Given the description of an element on the screen output the (x, y) to click on. 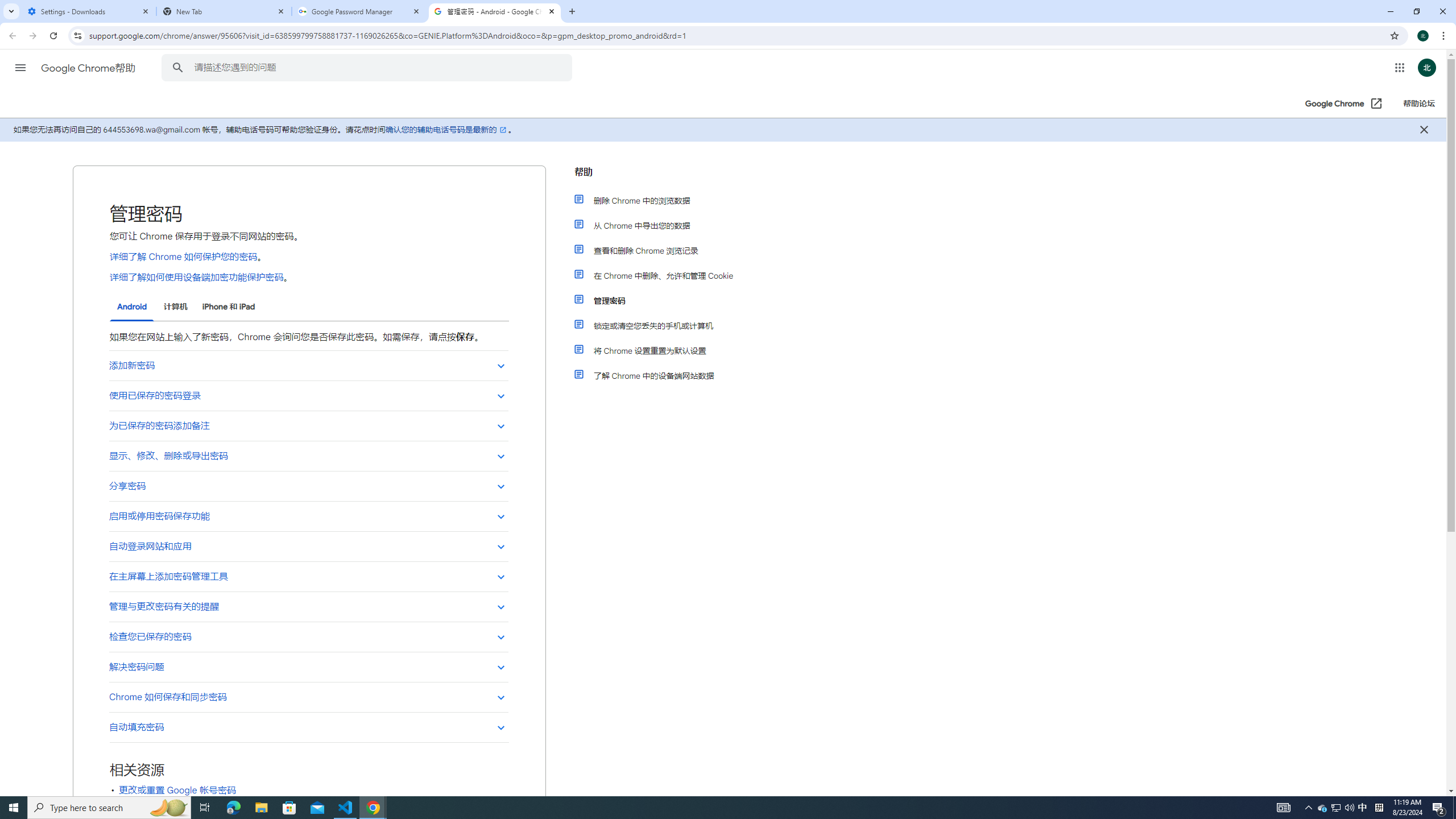
Settings - Downloads (88, 11)
